Given the description of an element on the screen output the (x, y) to click on. 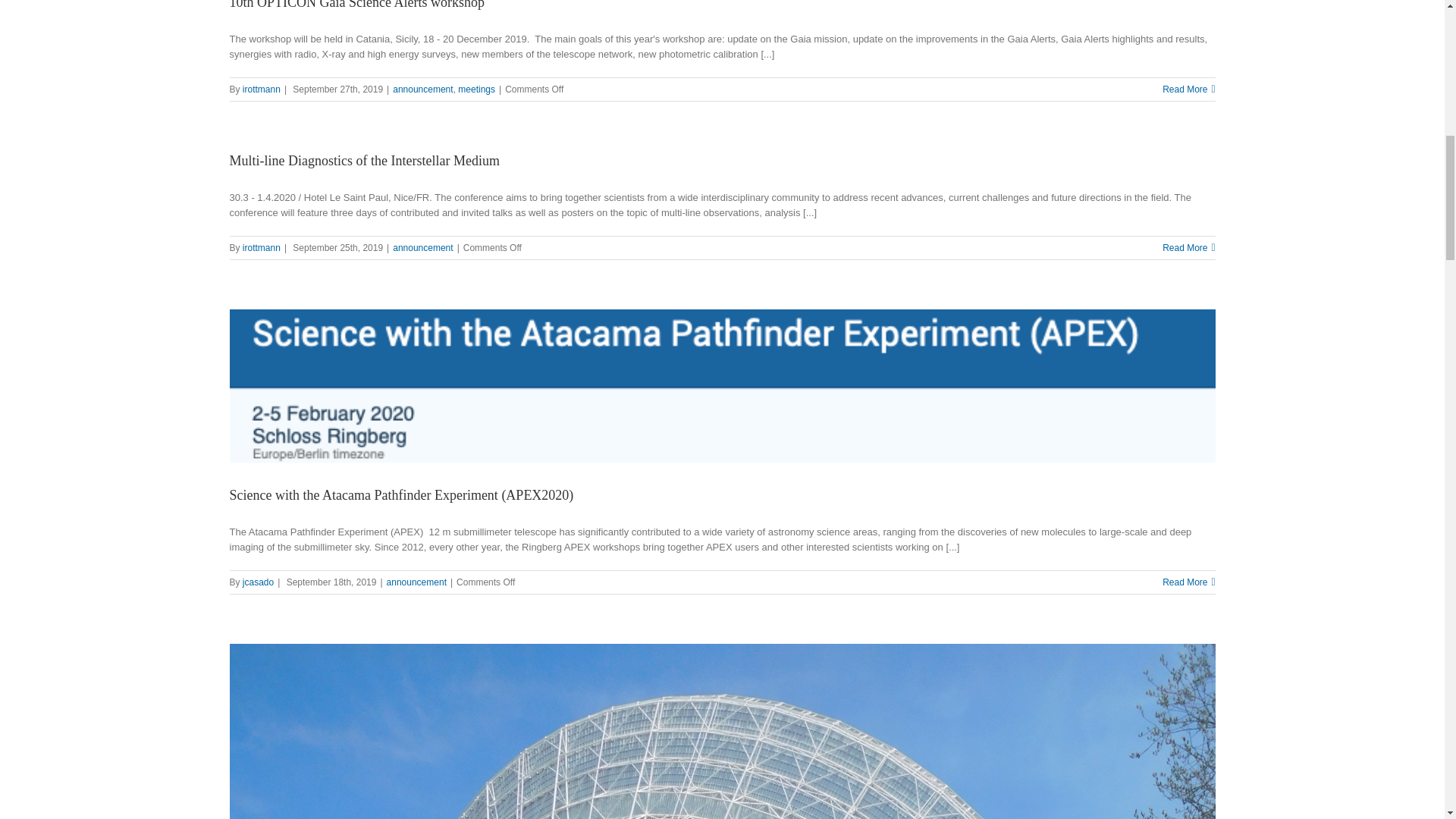
Posts by irottmann (262, 247)
Posts by jcasado (258, 582)
Posts by irottmann (262, 89)
